Given the description of an element on the screen output the (x, y) to click on. 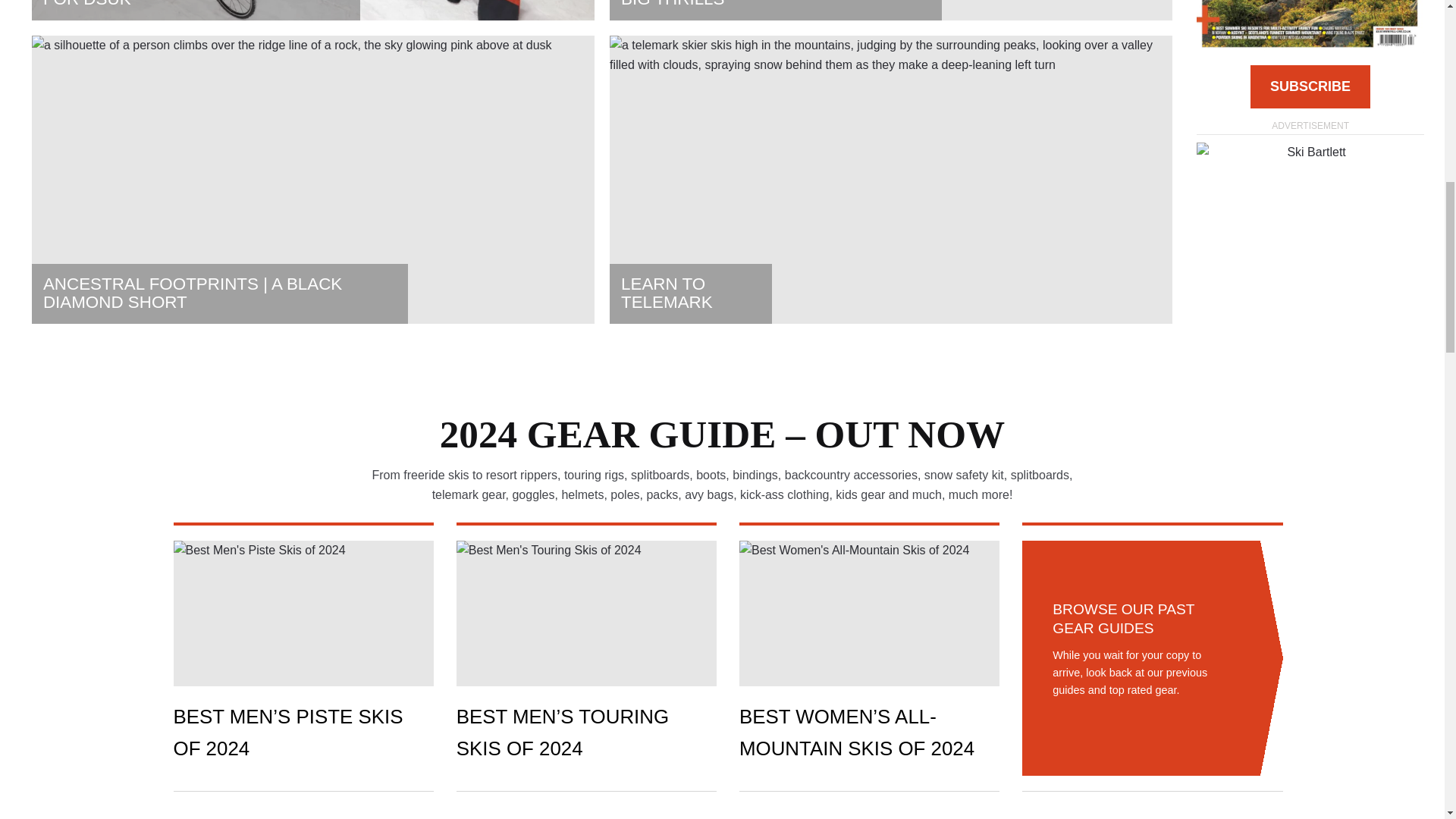
SET A 10K GOAL AND RAISE MONEY FOR DSUK (195, 10)
